Given the description of an element on the screen output the (x, y) to click on. 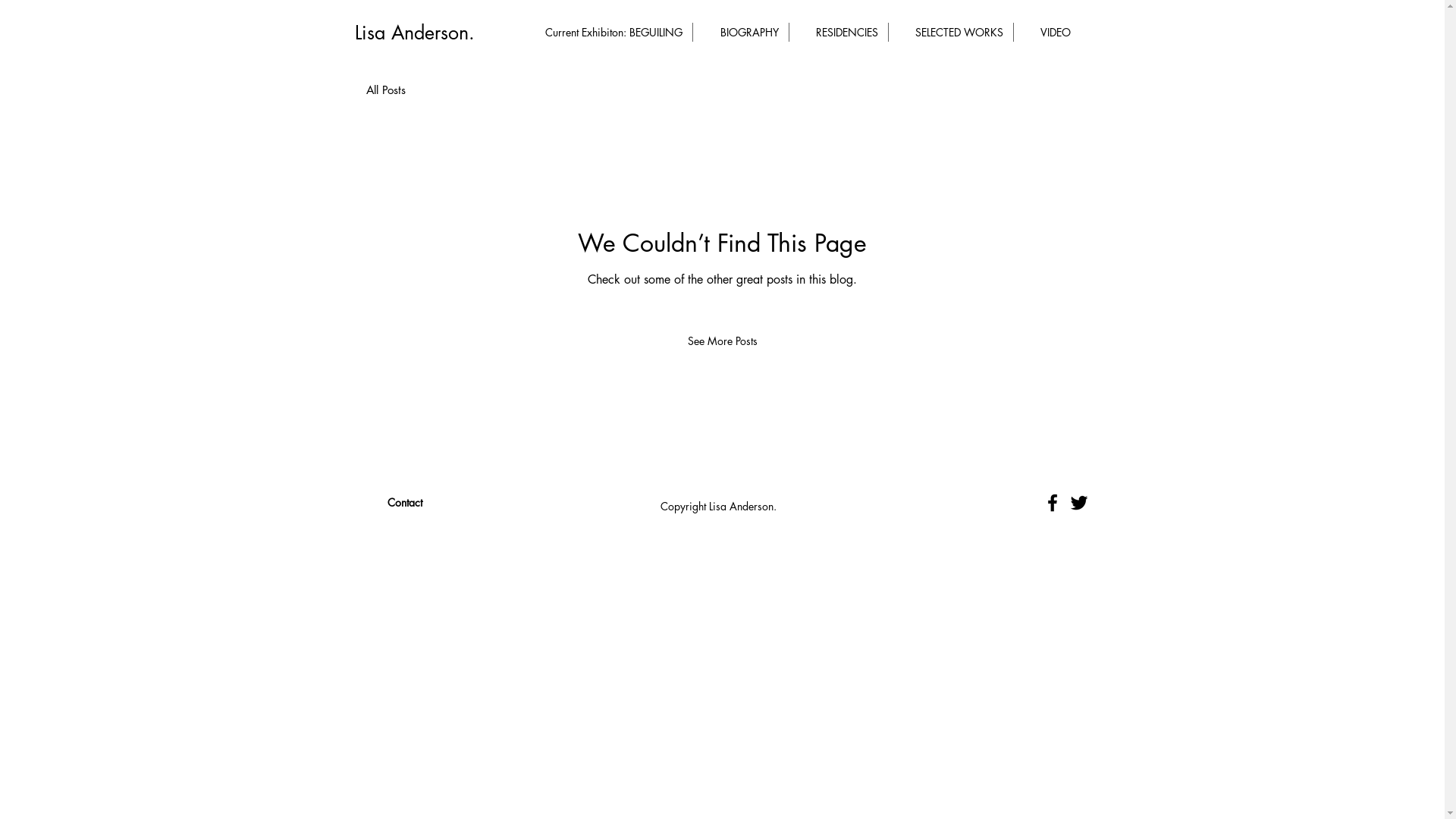
RESIDENCIES Element type: text (837, 31)
Current Exhibiton: BEGUILING Element type: text (604, 31)
Lisa Anderson. Element type: text (414, 32)
See More Posts Element type: text (721, 340)
All Posts Element type: text (384, 89)
BIOGRAPHY Element type: text (740, 31)
Contact Element type: text (404, 502)
VIDEO Element type: text (1046, 31)
